Given the description of an element on the screen output the (x, y) to click on. 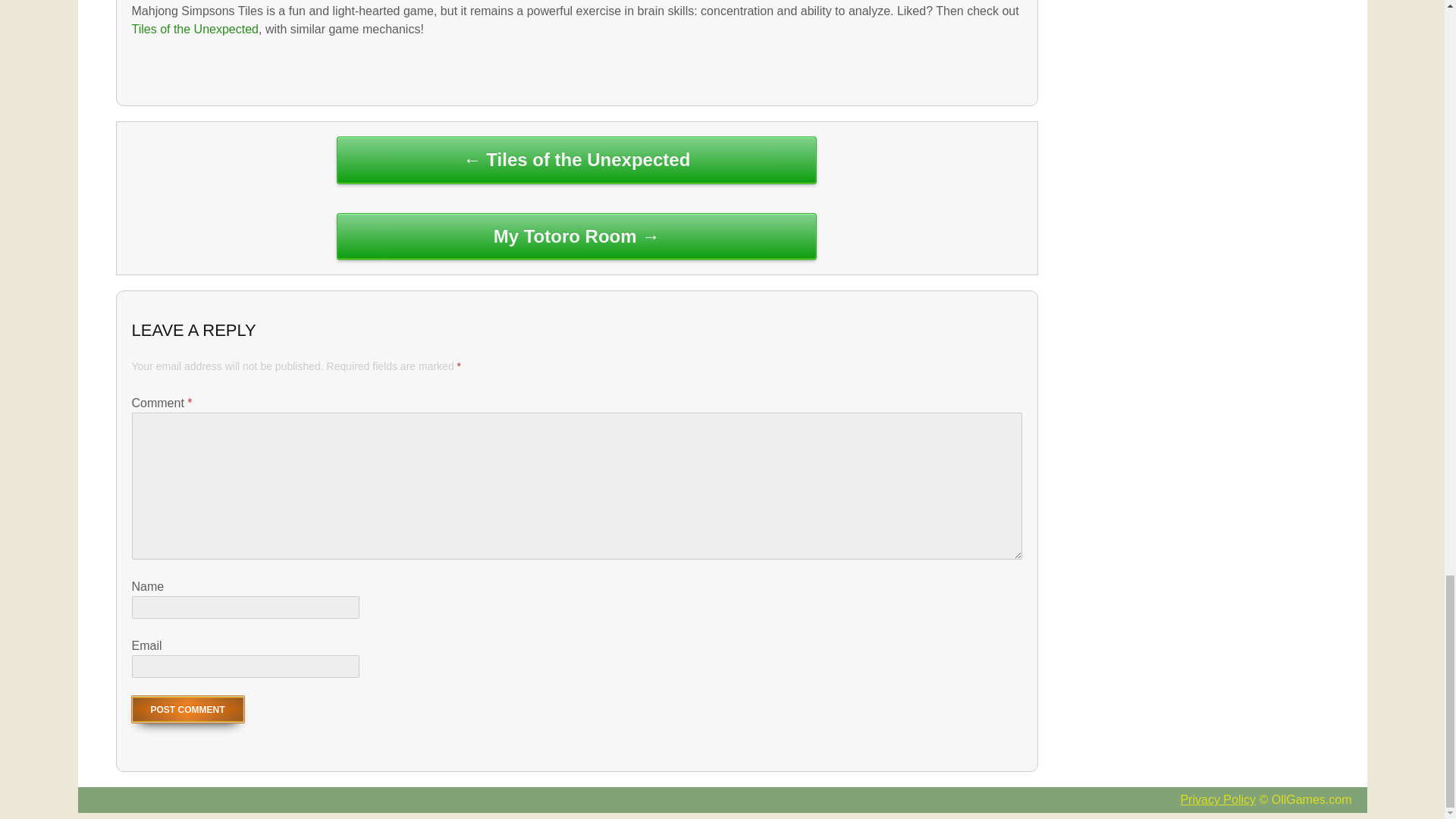
Post Comment (188, 709)
